Given the description of an element on the screen output the (x, y) to click on. 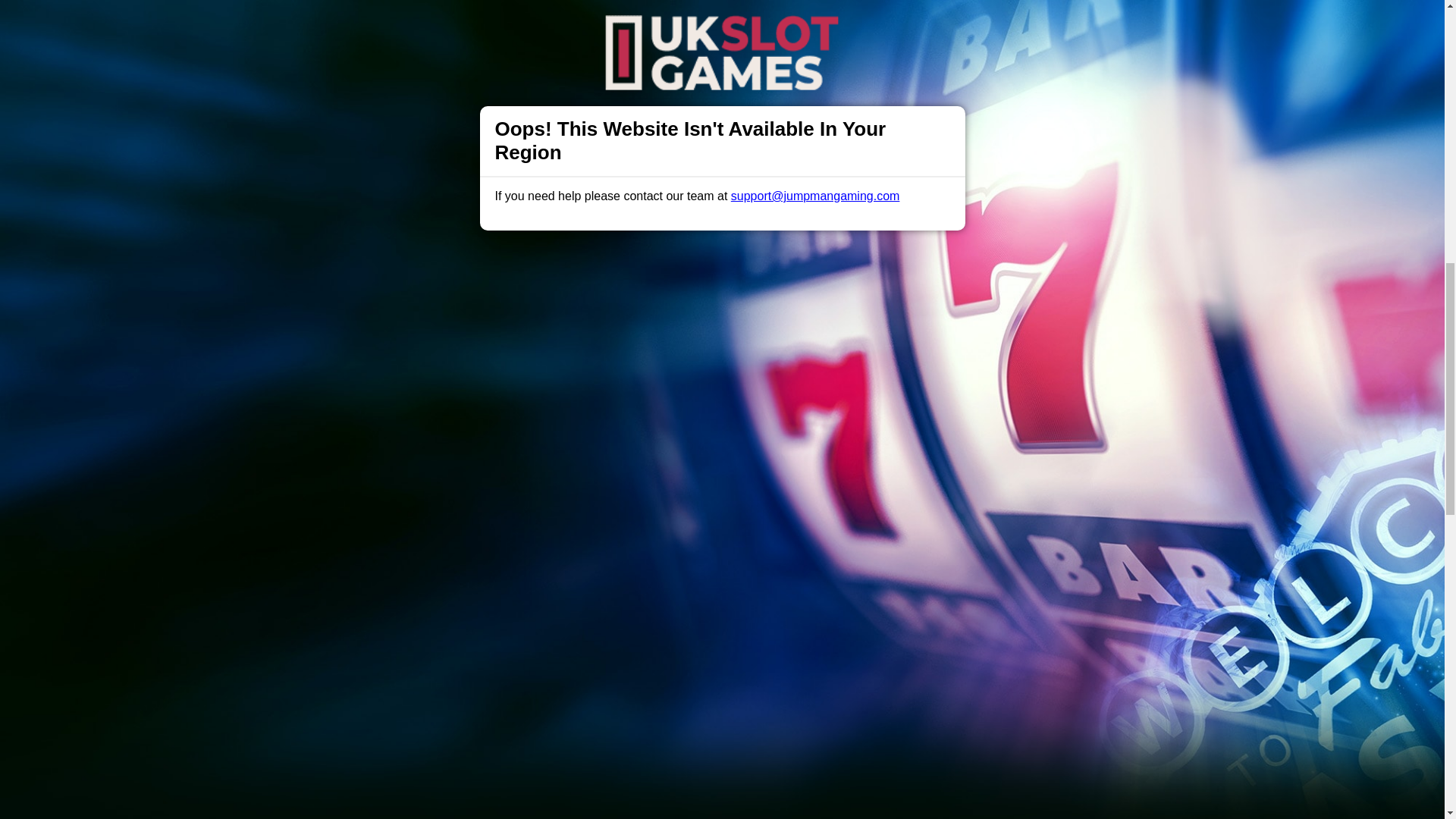
Leprechaun Song UK Slot Game (722, 134)
Fluffy Favourites UK Slot Game (722, 204)
UK Slots (459, 353)
Irish Luck UK Slot Game (722, 65)
Diamond Strike UK Slot Game (722, 16)
Starburst UK Slot Game (722, 273)
